Given the description of an element on the screen output the (x, y) to click on. 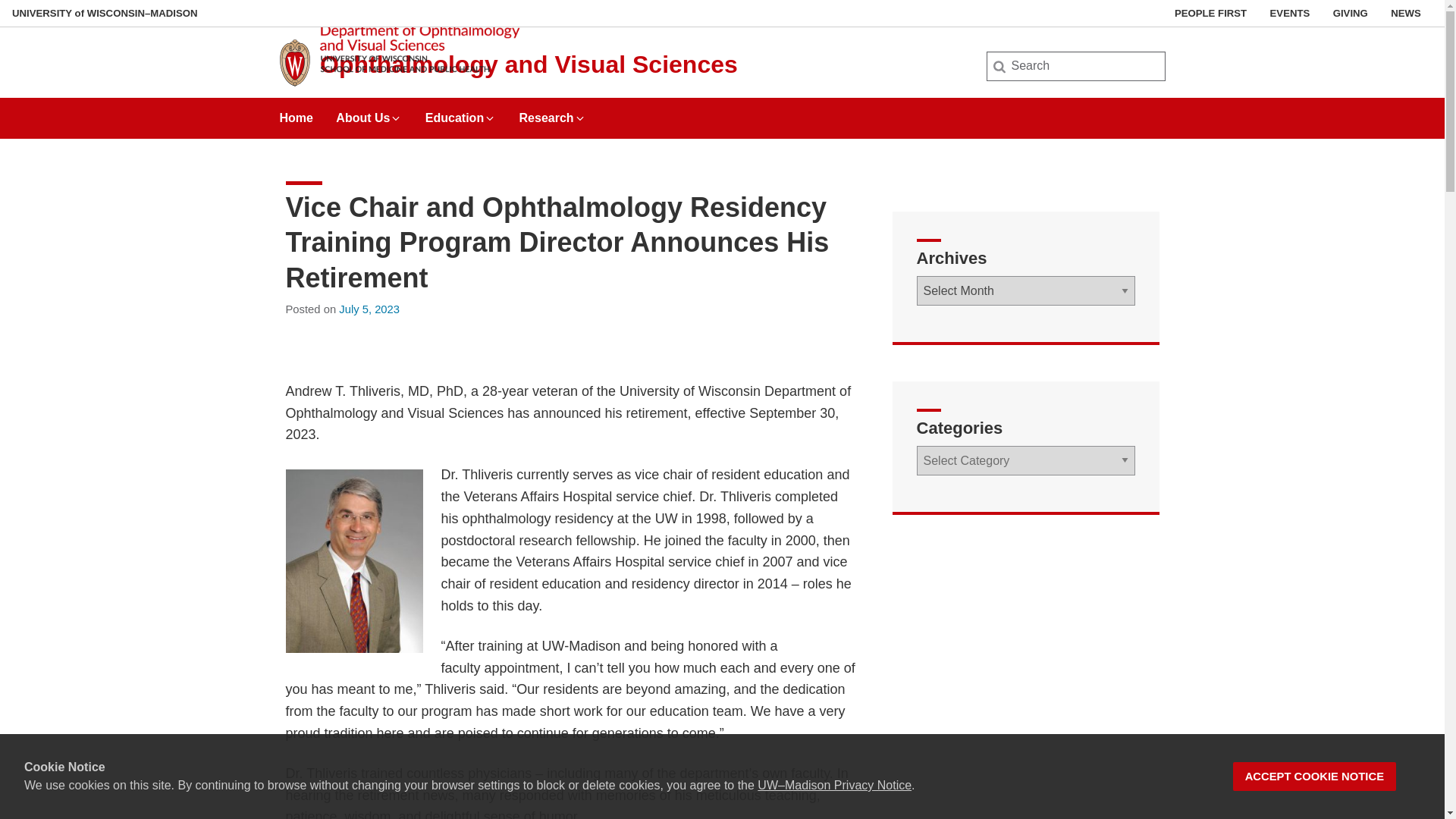
Education Expand (460, 112)
About Us Expand (368, 112)
Ophthalmology and Visual Sciences (529, 63)
EVENTS (1289, 13)
Expand (489, 118)
Expand (395, 118)
PEOPLE FIRST (1210, 13)
Expand (579, 118)
Home (296, 112)
Search (37, 16)
